Given the description of an element on the screen output the (x, y) to click on. 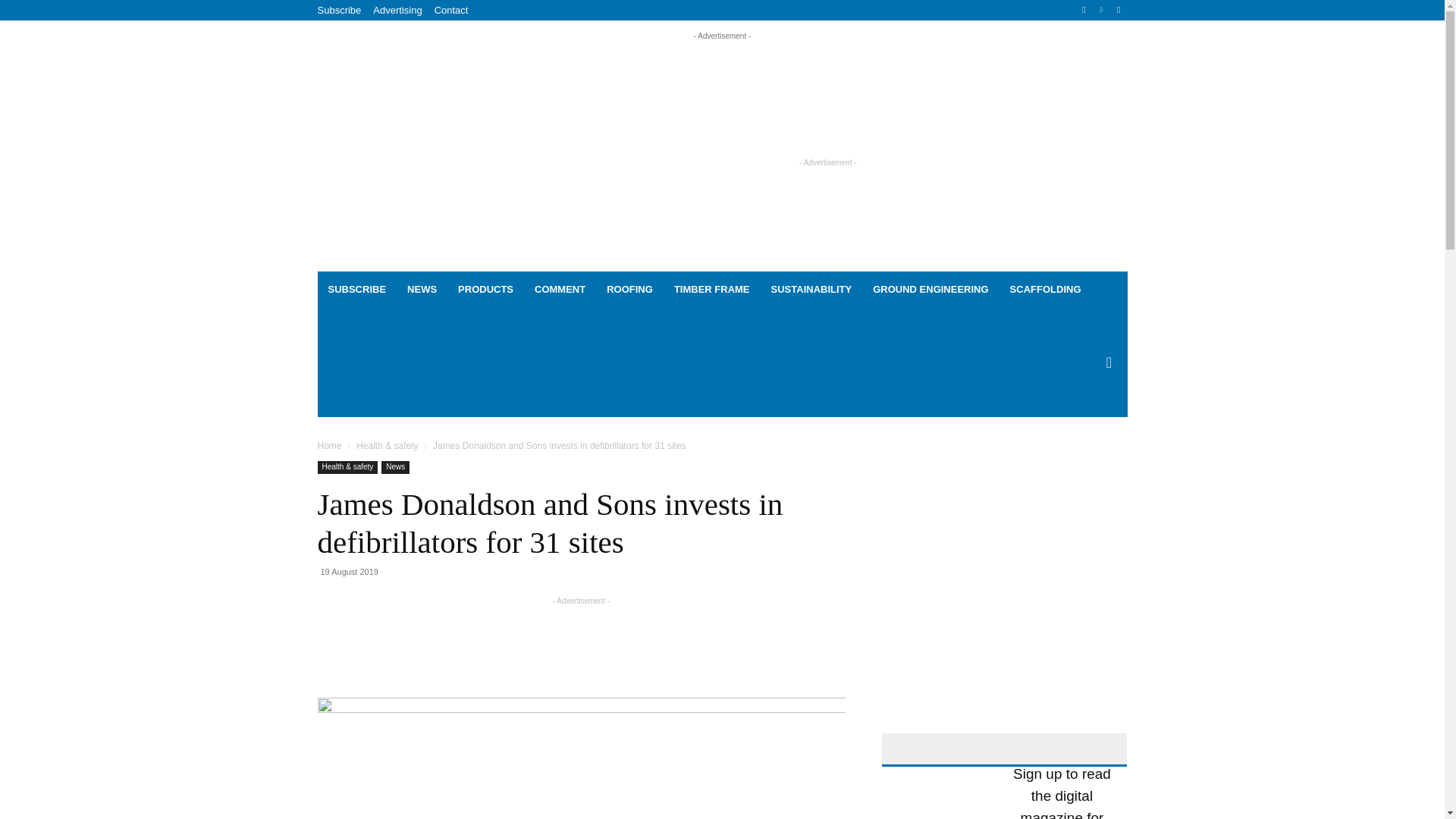
Home (328, 445)
TIMBER FRAME (711, 289)
ROOFING (629, 289)
GROUND ENGINEERING (929, 289)
Contact (450, 9)
Project Scotland (404, 147)
Advertising (397, 9)
SCAFFOLDING (1045, 289)
NEWS (421, 289)
SUSTAINABILITY (811, 289)
Twitter (1117, 9)
Linkedin (1101, 9)
Facebook (1084, 9)
SUBSCRIBE (356, 289)
PRODUCTS (485, 289)
